Given the description of an element on the screen output the (x, y) to click on. 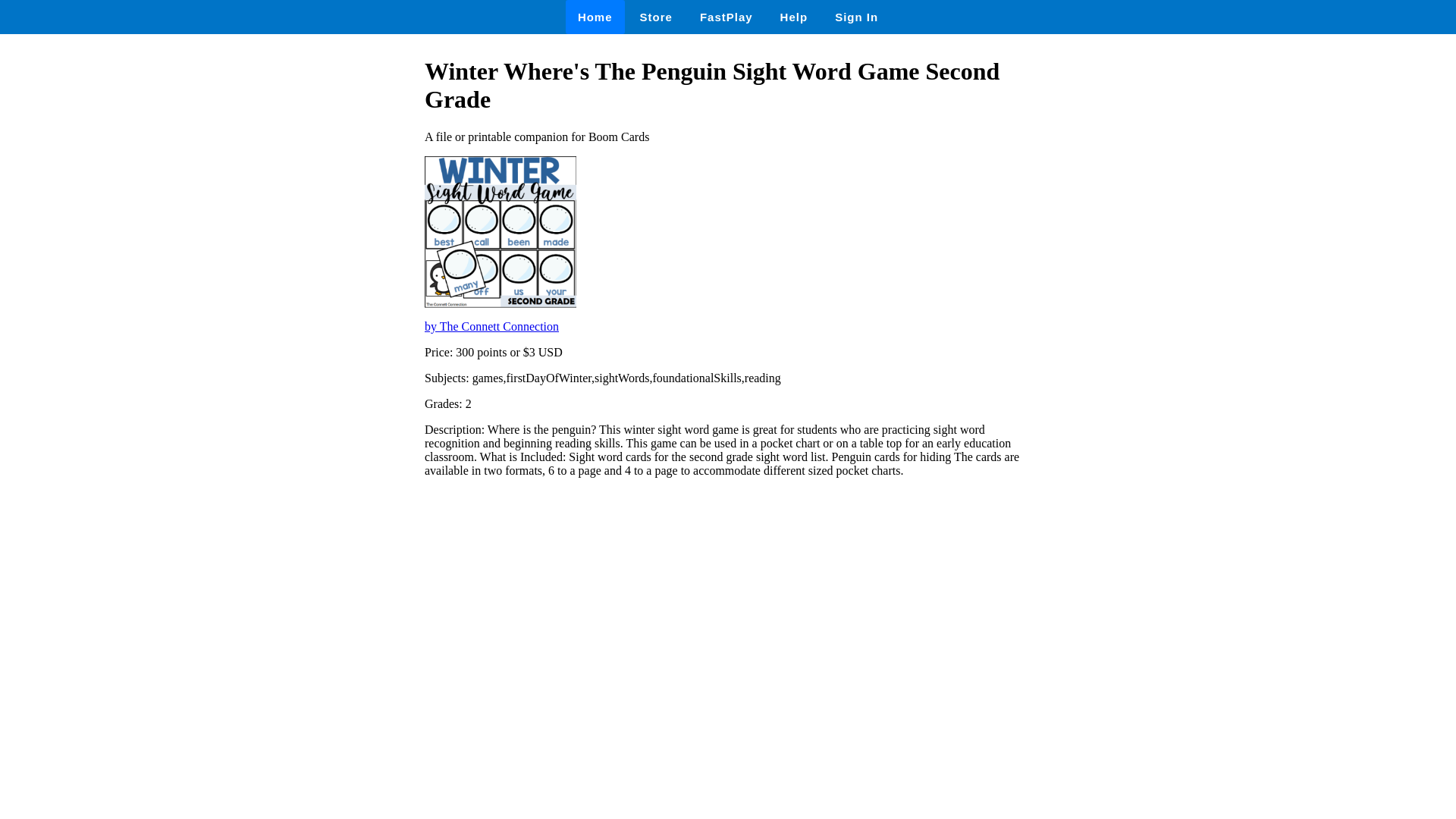
FastPlay (726, 17)
Store (655, 17)
Help (794, 17)
by The Connett Connection (492, 326)
Sign In (855, 17)
Home (595, 17)
